Given the description of an element on the screen output the (x, y) to click on. 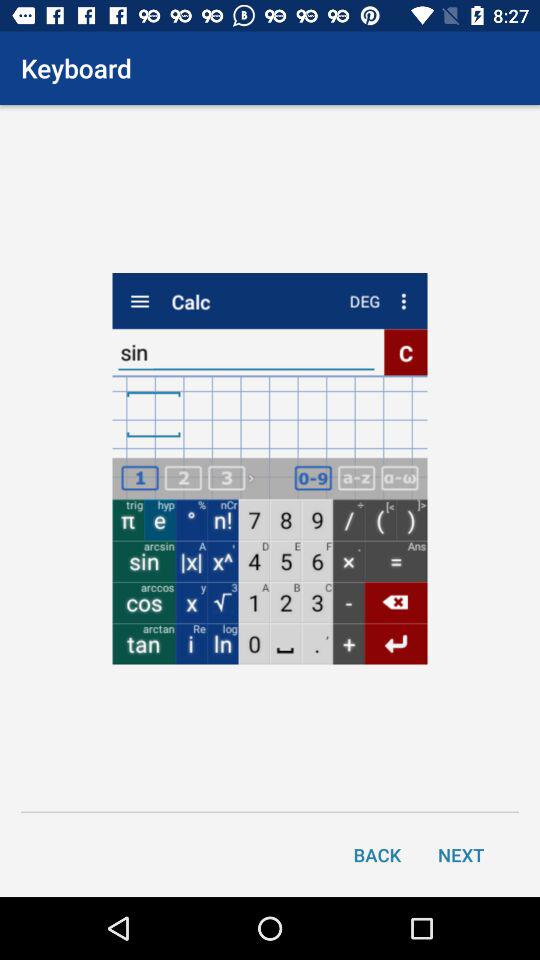
turn on icon next to back icon (461, 854)
